Given the description of an element on the screen output the (x, y) to click on. 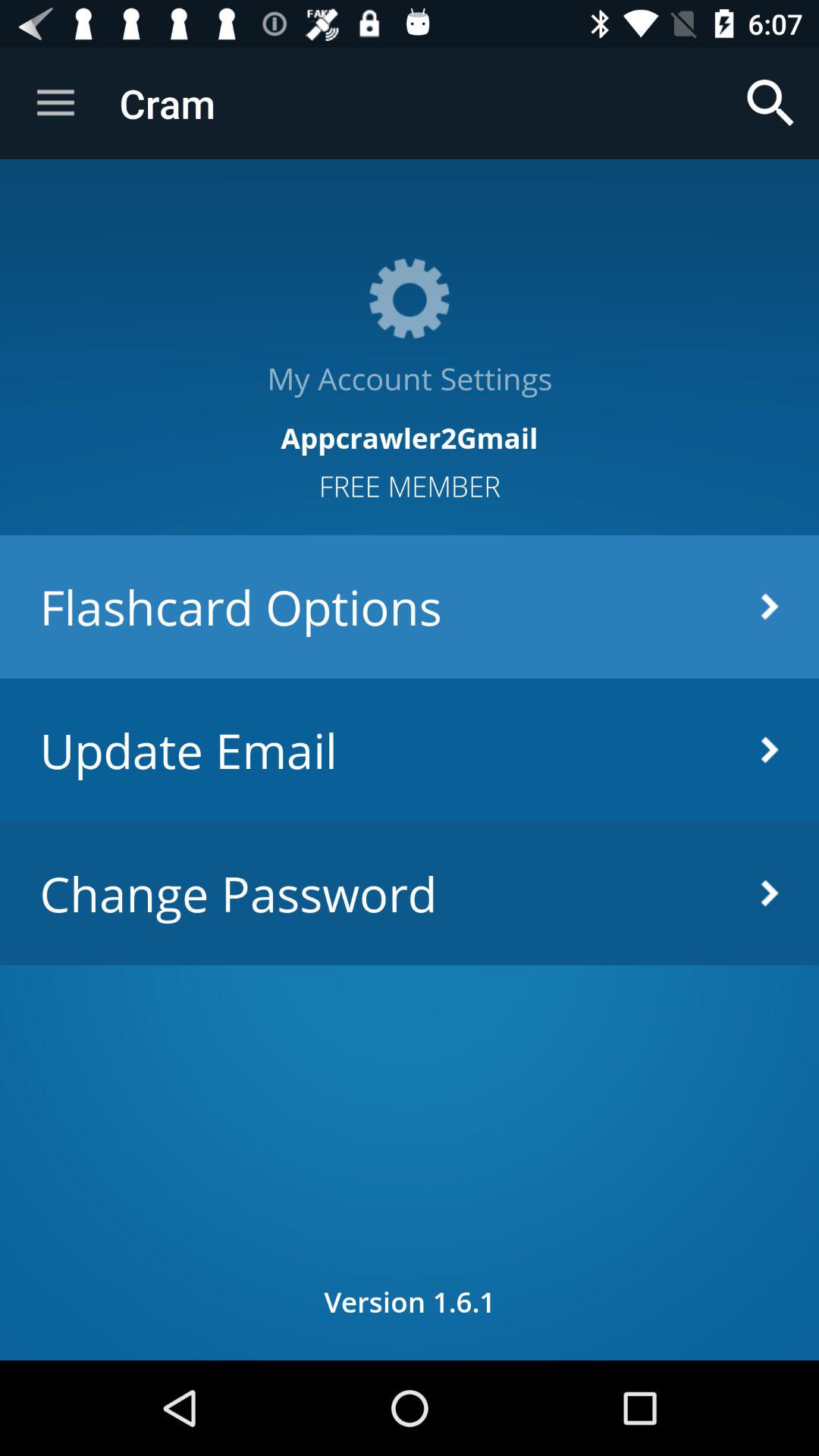
turn off update email item (409, 749)
